Given the description of an element on the screen output the (x, y) to click on. 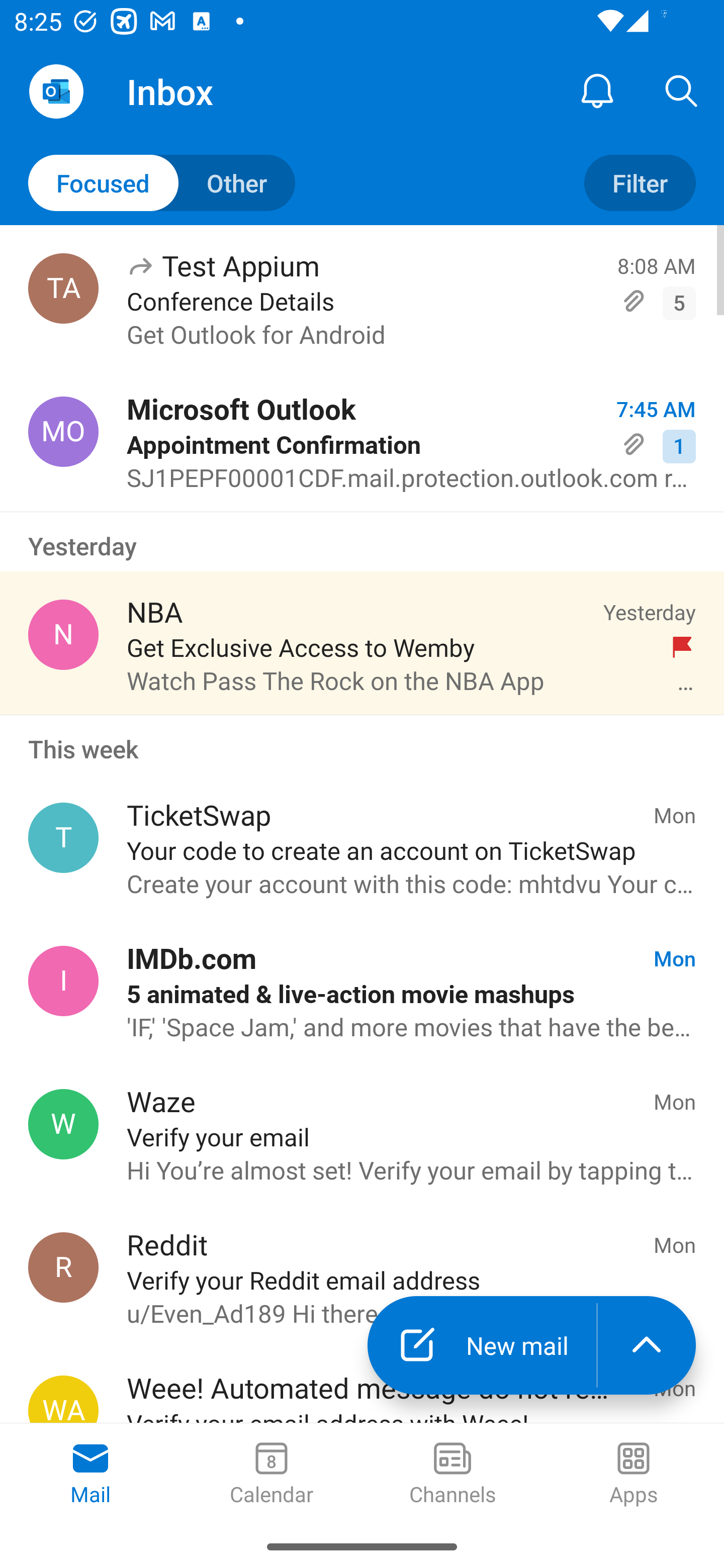
Notification Center (597, 90)
Search, ,  (681, 90)
Open Navigation Drawer (55, 91)
Toggle to other mails (161, 183)
Filter (639, 183)
Test Appium, testappium002@outlook.com (63, 288)
NBA, NBA@email.nba.com (63, 633)
TicketSwap, info@ticketswap.com (63, 837)
IMDb.com, do-not-reply@imdb.com (63, 980)
Waze, noreply@waze.com (63, 1123)
Reddit, noreply@reddit.com (63, 1267)
New mail (481, 1344)
launch the extended action menu (646, 1344)
Calendar (271, 1474)
Channels (452, 1474)
Apps (633, 1474)
